Given the description of an element on the screen output the (x, y) to click on. 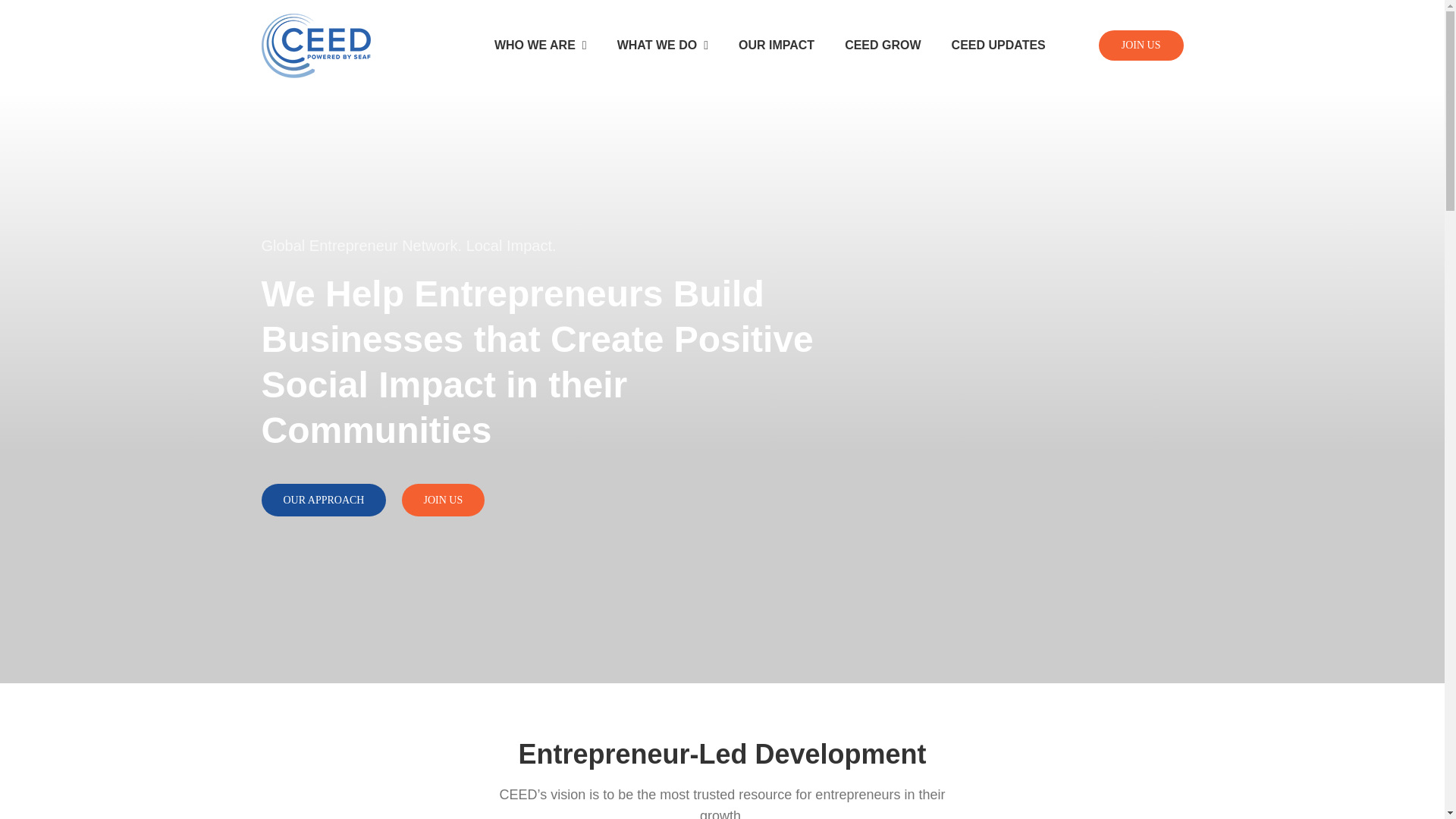
JOIN US (1129, 45)
CEED UPDATES (998, 45)
WHO WE ARE (540, 45)
WHAT WE DO (662, 45)
